Given the description of an element on the screen output the (x, y) to click on. 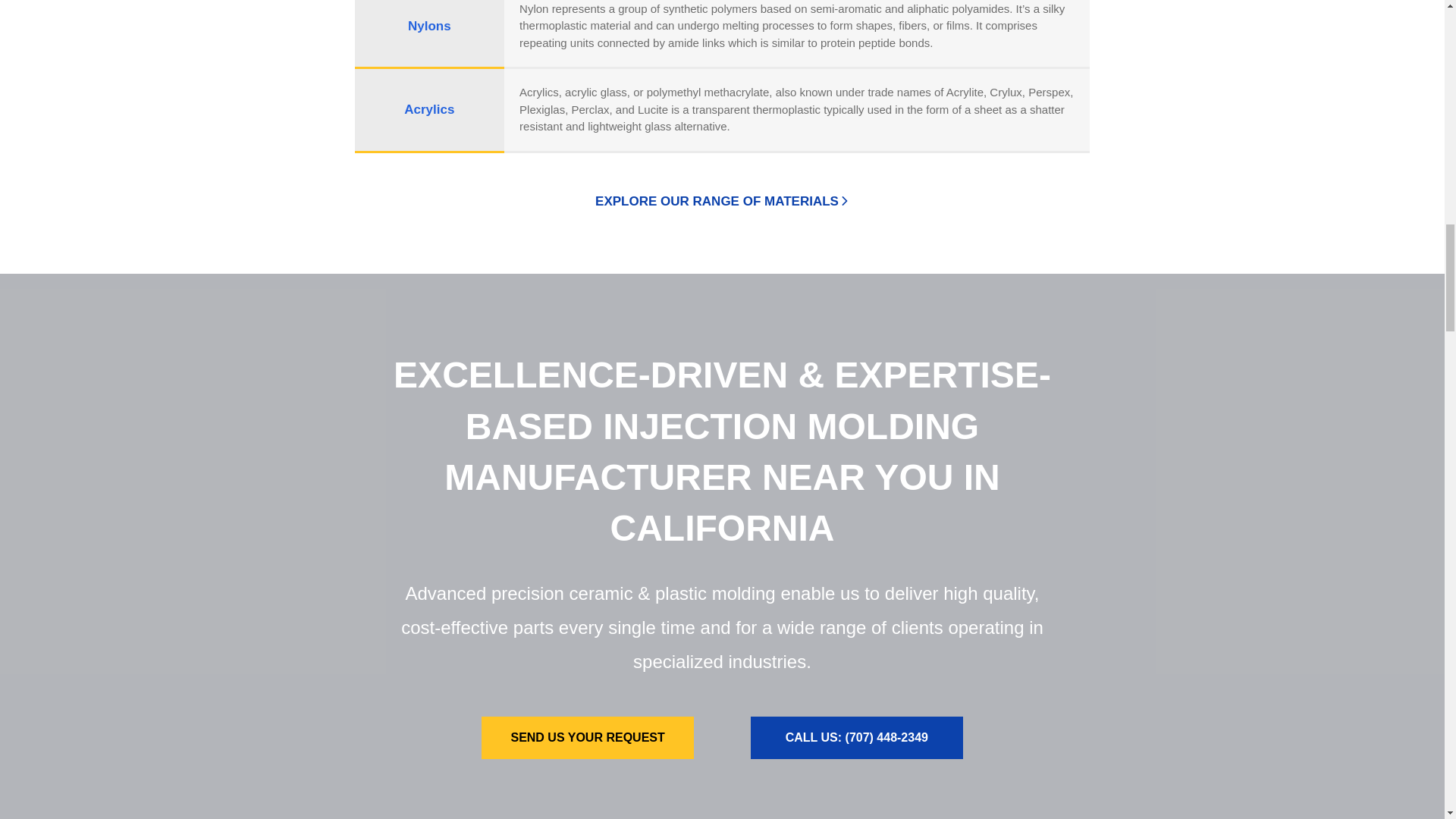
SEND US YOUR REQUEST (587, 737)
EXPLORE OUR RANGE OF MATERIALS (721, 201)
